Given the description of an element on the screen output the (x, y) to click on. 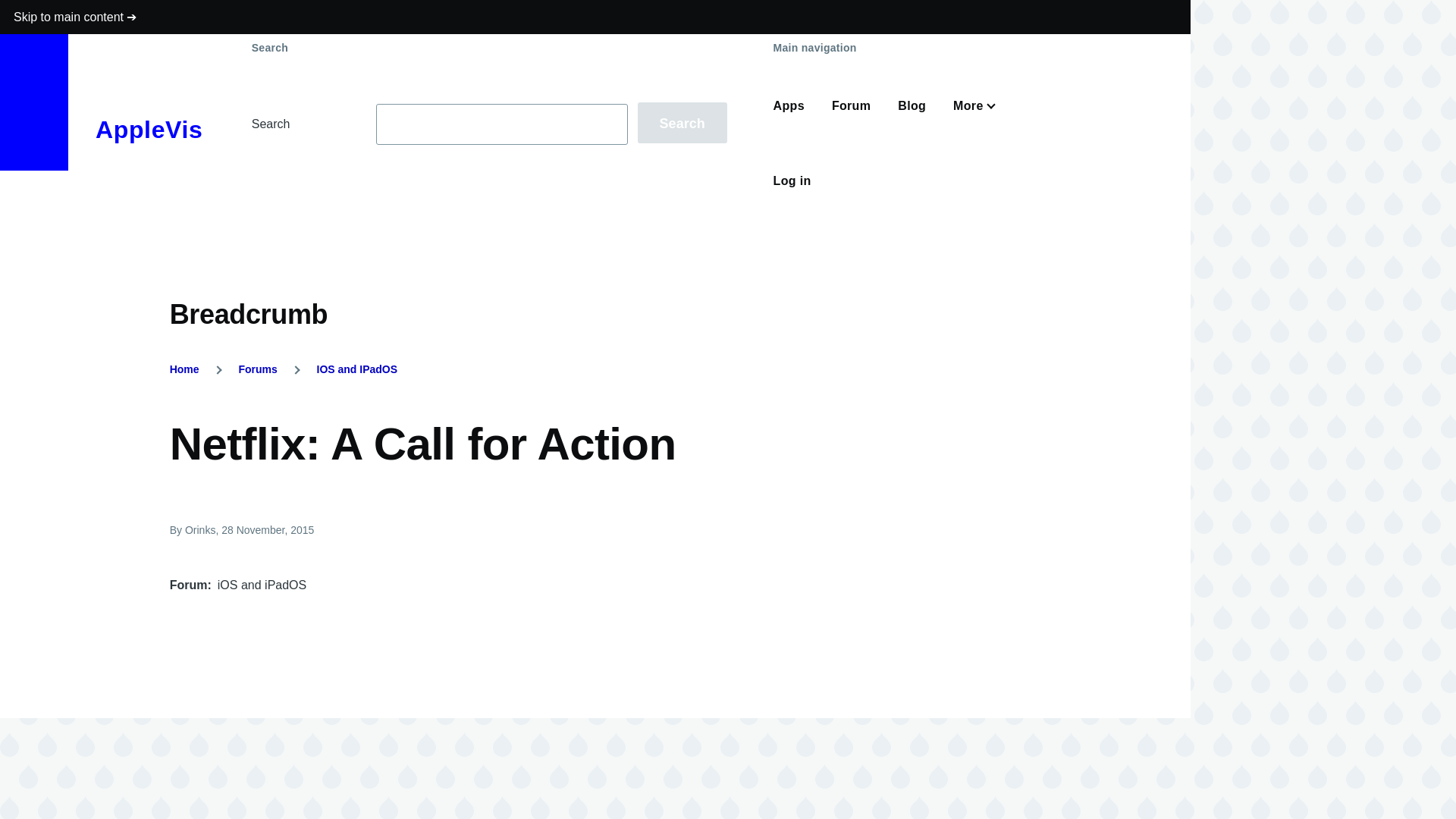
Home (184, 369)
Search (681, 122)
IOS and IPadOS (357, 369)
Search (681, 122)
AppleVis (149, 129)
Skip to main content (595, 17)
Home (149, 129)
Forums (257, 369)
